Given the description of an element on the screen output the (x, y) to click on. 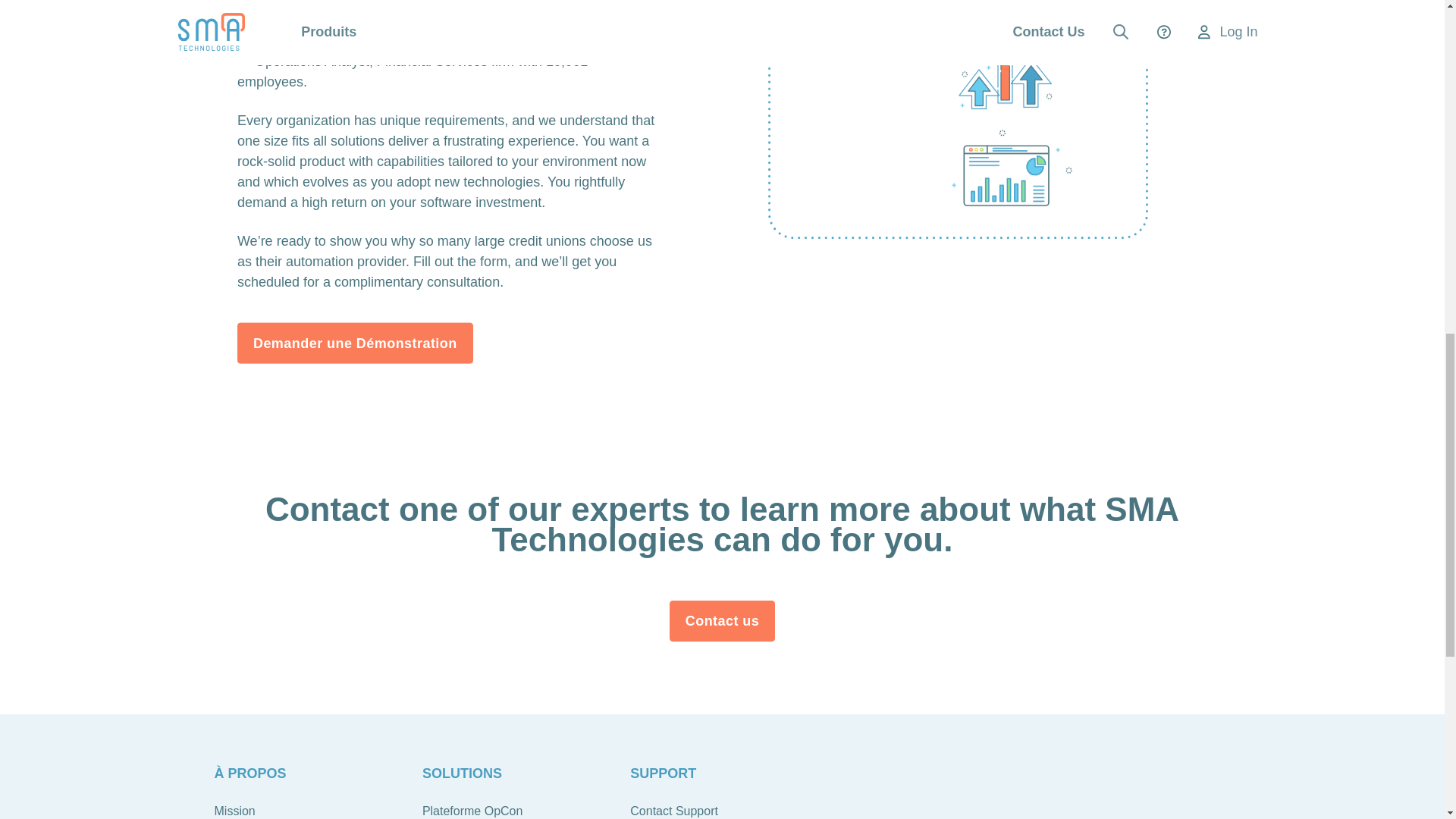
Mission (234, 809)
Contact us (722, 620)
SUPPORT (662, 772)
SOLUTIONS (462, 772)
Contact Support (673, 809)
Plateforme OpCon (472, 809)
